Given the description of an element on the screen output the (x, y) to click on. 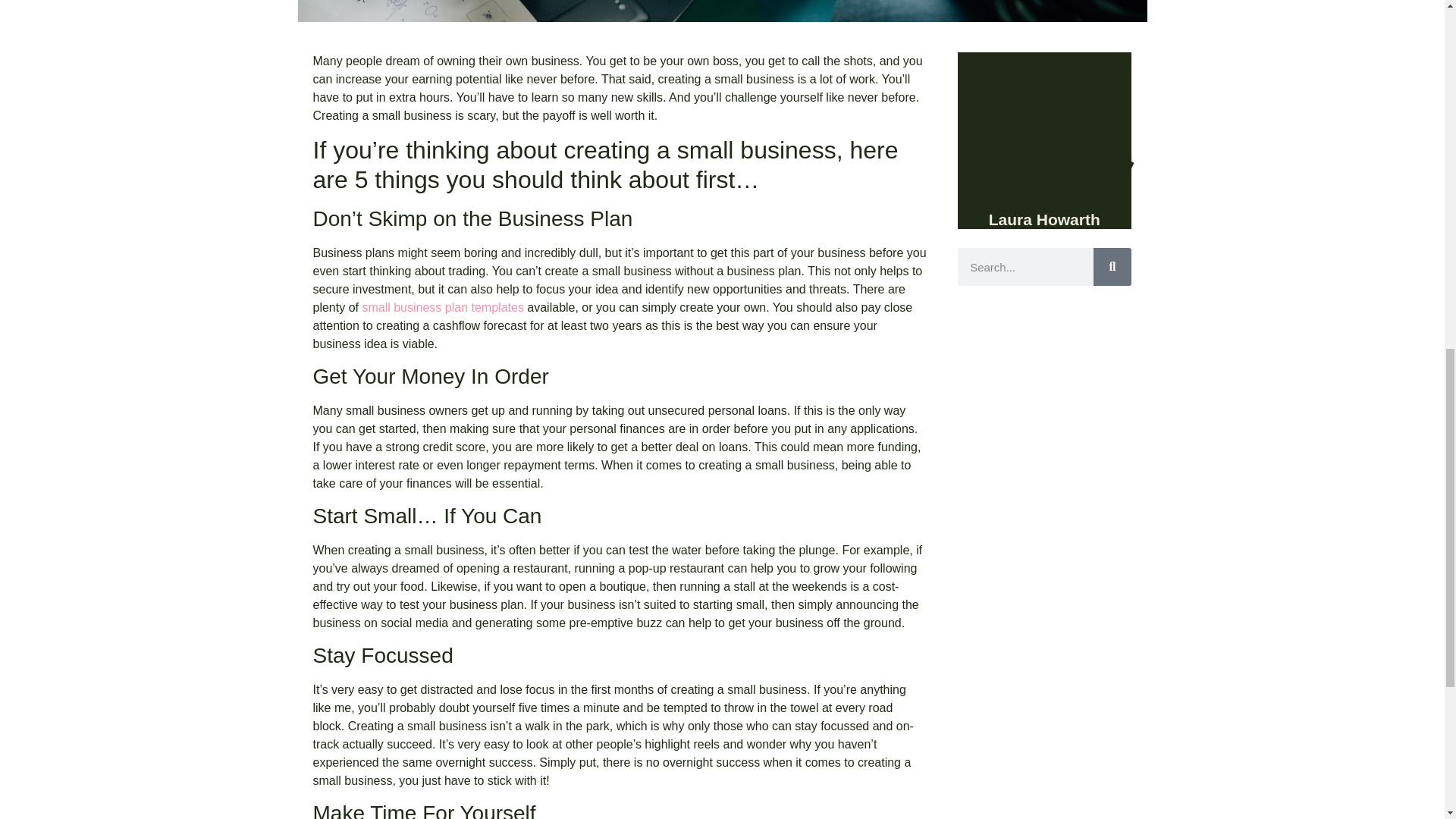
small business plan templates (441, 307)
